Given the description of an element on the screen output the (x, y) to click on. 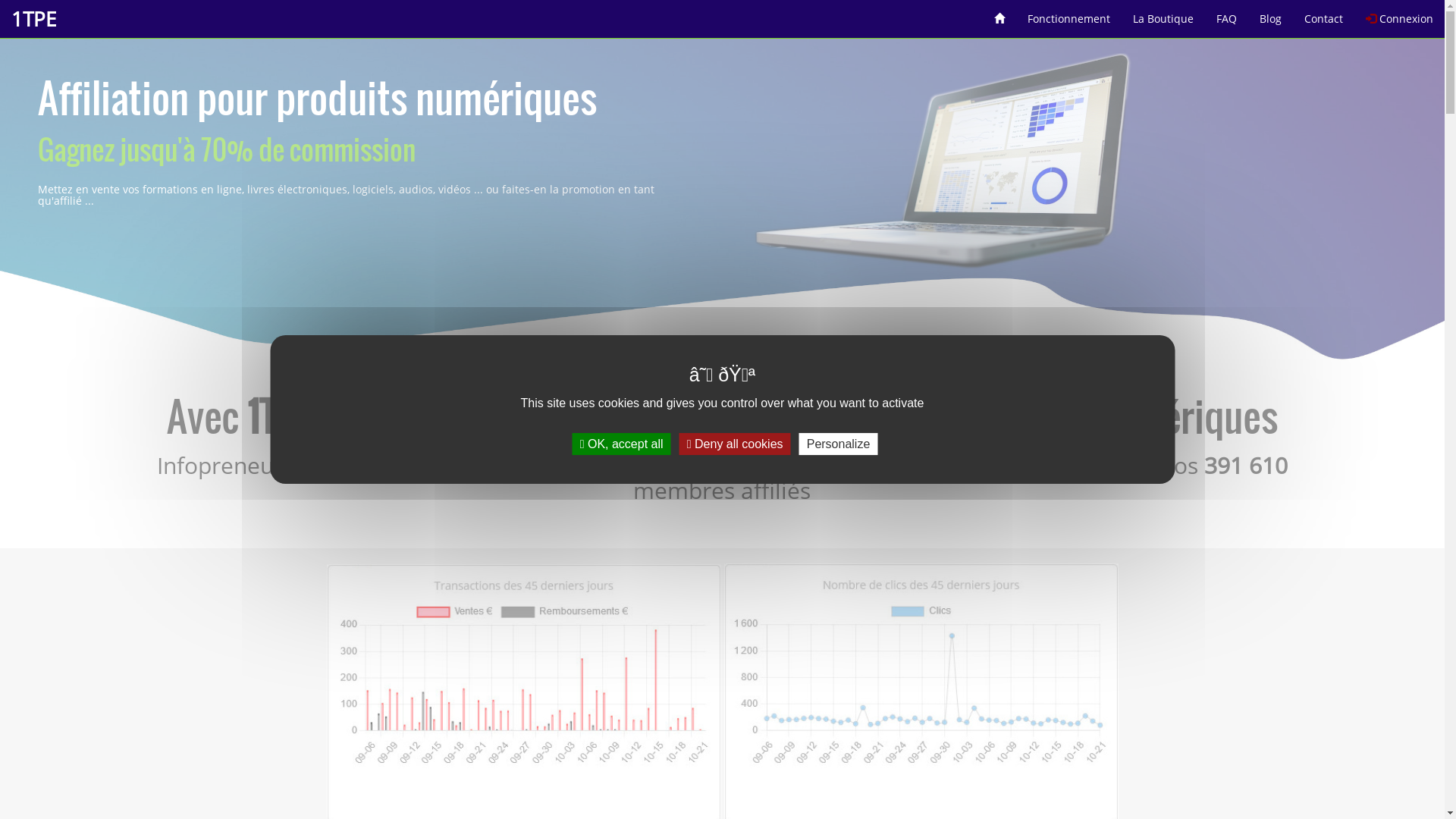
La Boutique Element type: text (1162, 13)
Fonctionnement Element type: text (1068, 13)
Contact Element type: text (1323, 13)
Connexion Element type: text (1399, 13)
Blog Element type: text (1270, 13)
1TPE Element type: text (33, 18)
FAQ Element type: text (1226, 13)
